Given the description of an element on the screen output the (x, y) to click on. 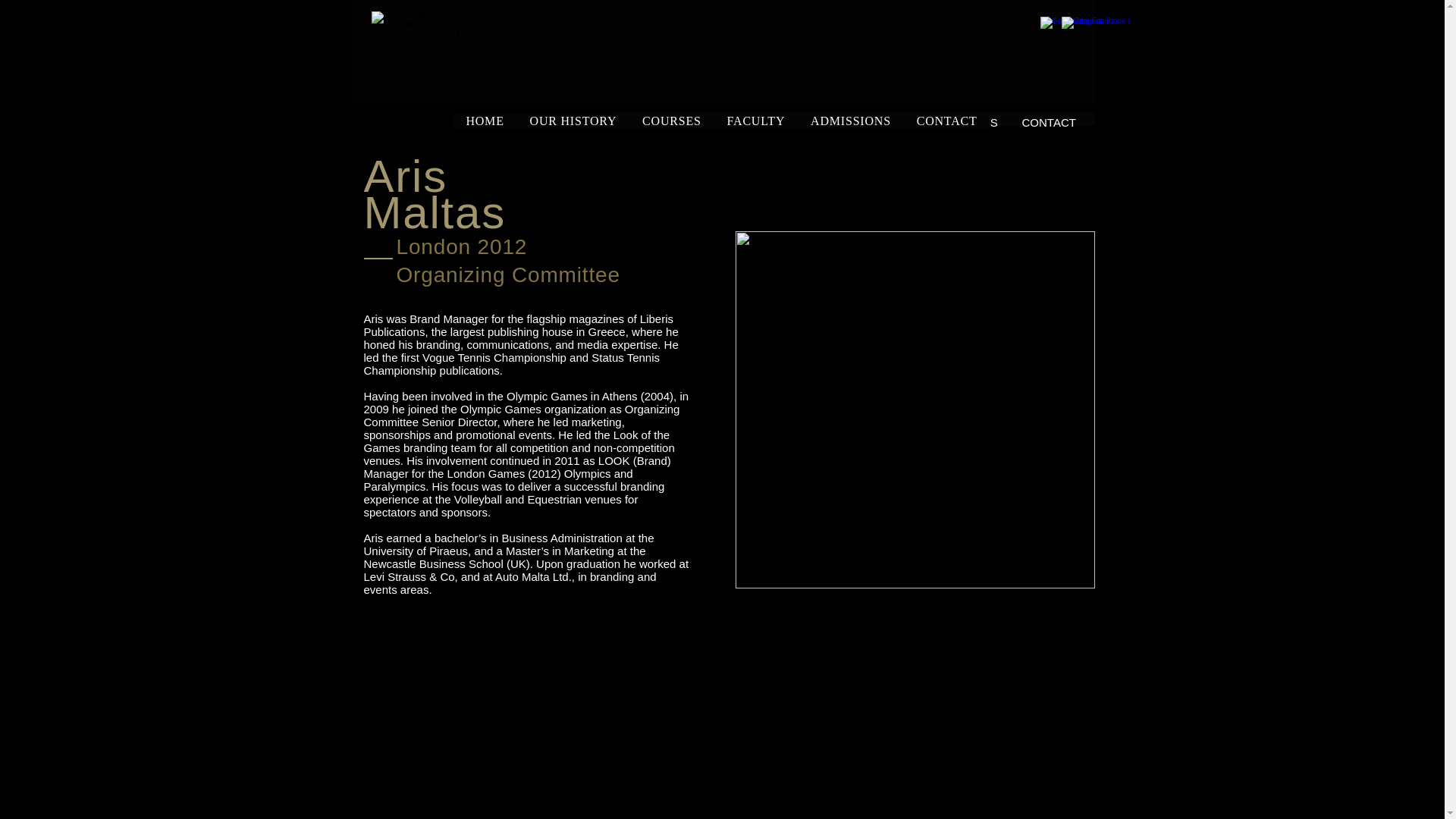
ADMISSIONS (962, 122)
OUR HISTORY (573, 120)
CONTACT (1048, 122)
HOME (626, 122)
OUR HISTORY (708, 122)
HOME (484, 120)
CONTACT (947, 120)
ADMISSIONS (850, 120)
